Given the description of an element on the screen output the (x, y) to click on. 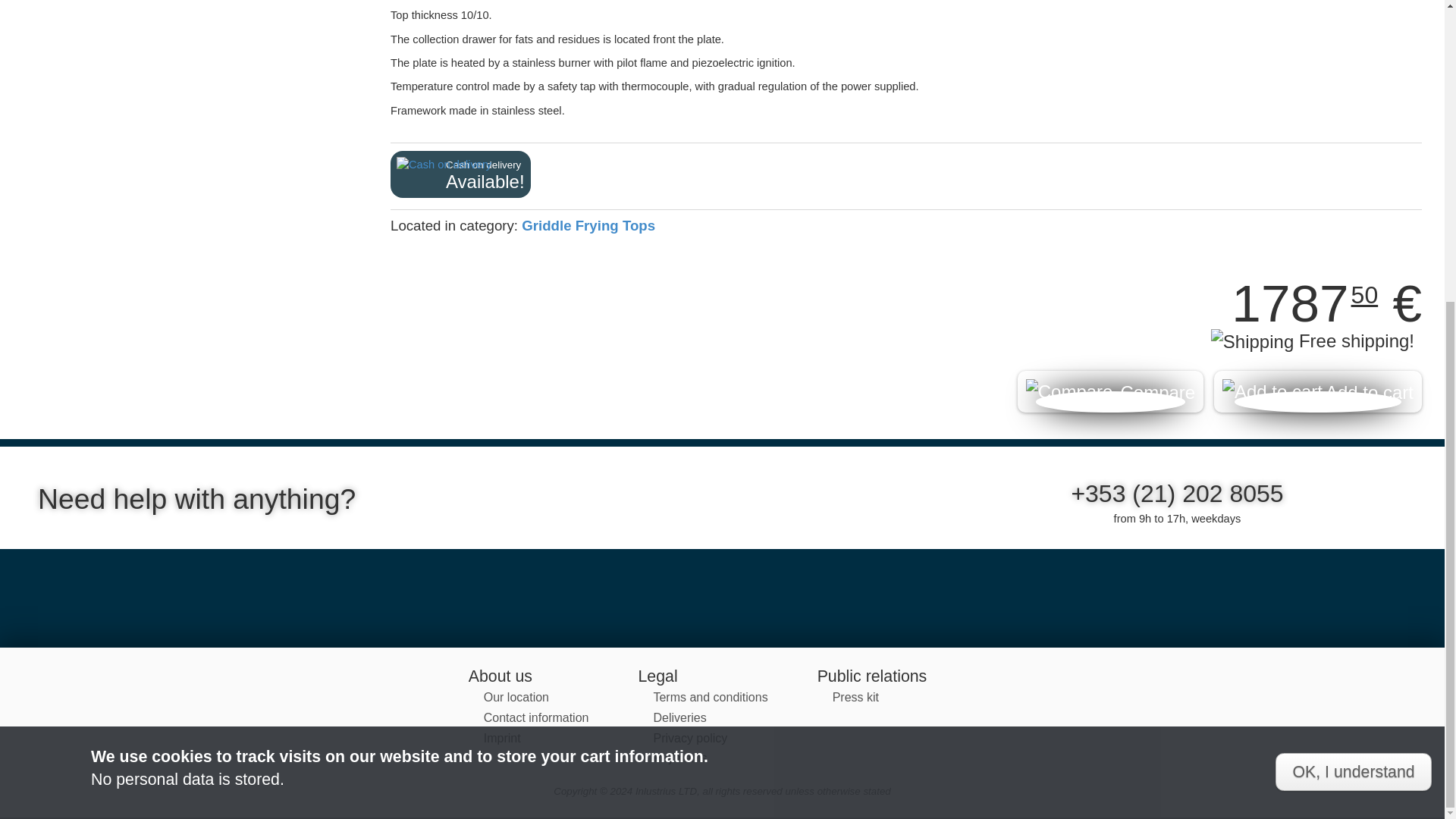
Griddle Frying Tops (588, 225)
Add to cart (1318, 391)
Imprint (502, 738)
Press kit (855, 697)
Terms and conditions (709, 697)
Payments (679, 757)
Deliveries (679, 717)
Compare (1110, 391)
OK, I understand (1353, 302)
Our location (515, 697)
Privacy policy (689, 738)
Contact information (536, 717)
